Given the description of an element on the screen output the (x, y) to click on. 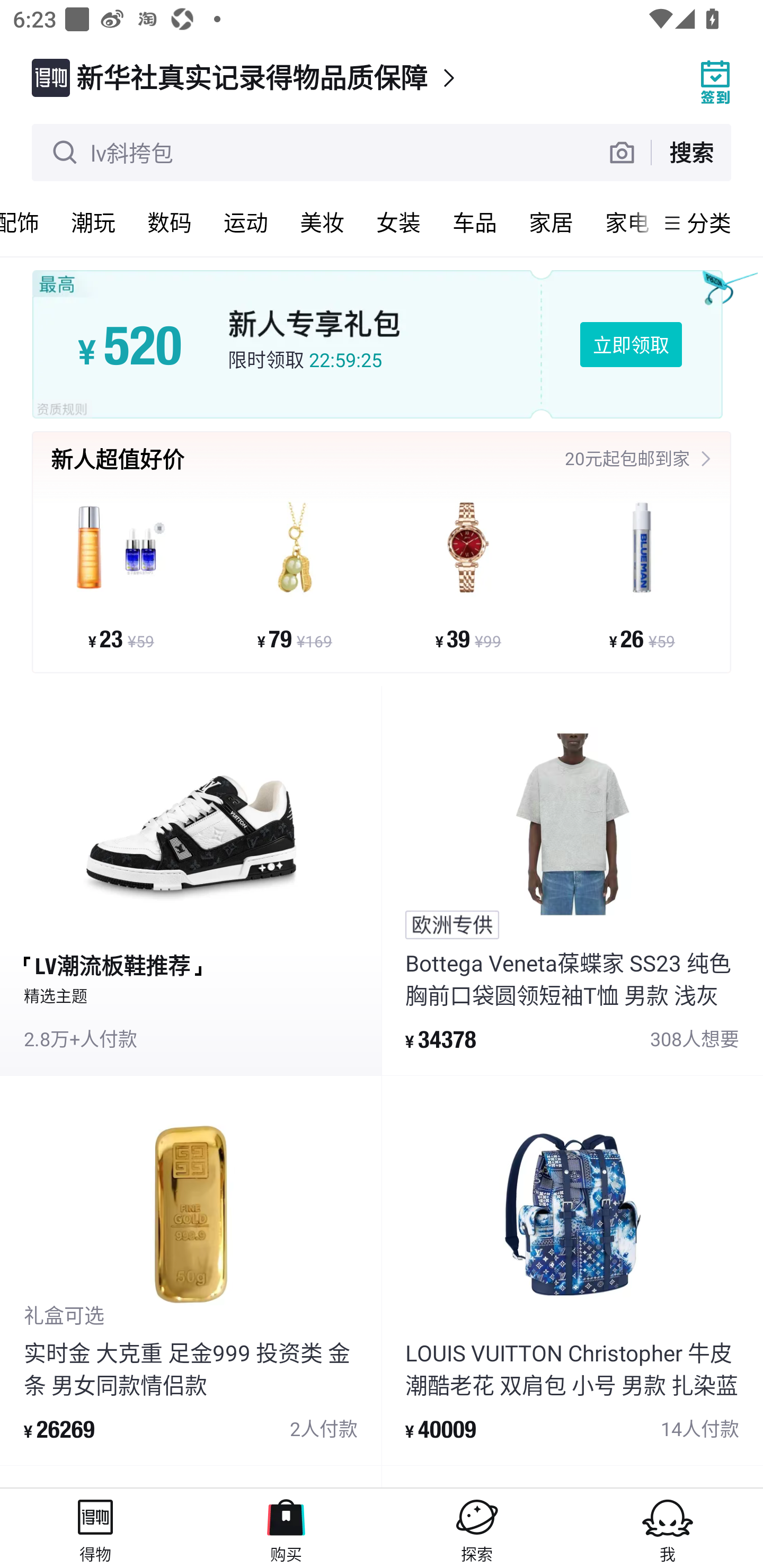
lv斜挎包 搜索 (381, 152)
搜索 (690, 152)
配饰 (27, 222)
潮玩 (92, 222)
数码 (169, 222)
运动 (245, 222)
美妆 (321, 222)
女装 (398, 222)
车品 (474, 222)
家居 (550, 222)
家电 (621, 222)
分类 (708, 222)
立即领取 (630, 343)
¥ 23 ¥59 (121, 574)
¥ 79 ¥169 (294, 574)
¥ 39 ¥99 (468, 574)
¥ 26 ¥59 (641, 574)
LV潮流板鞋推荐 精选主题 2.8万+人付款 (190, 880)
得物 (95, 1528)
购买 (285, 1528)
探索 (476, 1528)
我 (667, 1528)
